Given the description of an element on the screen output the (x, y) to click on. 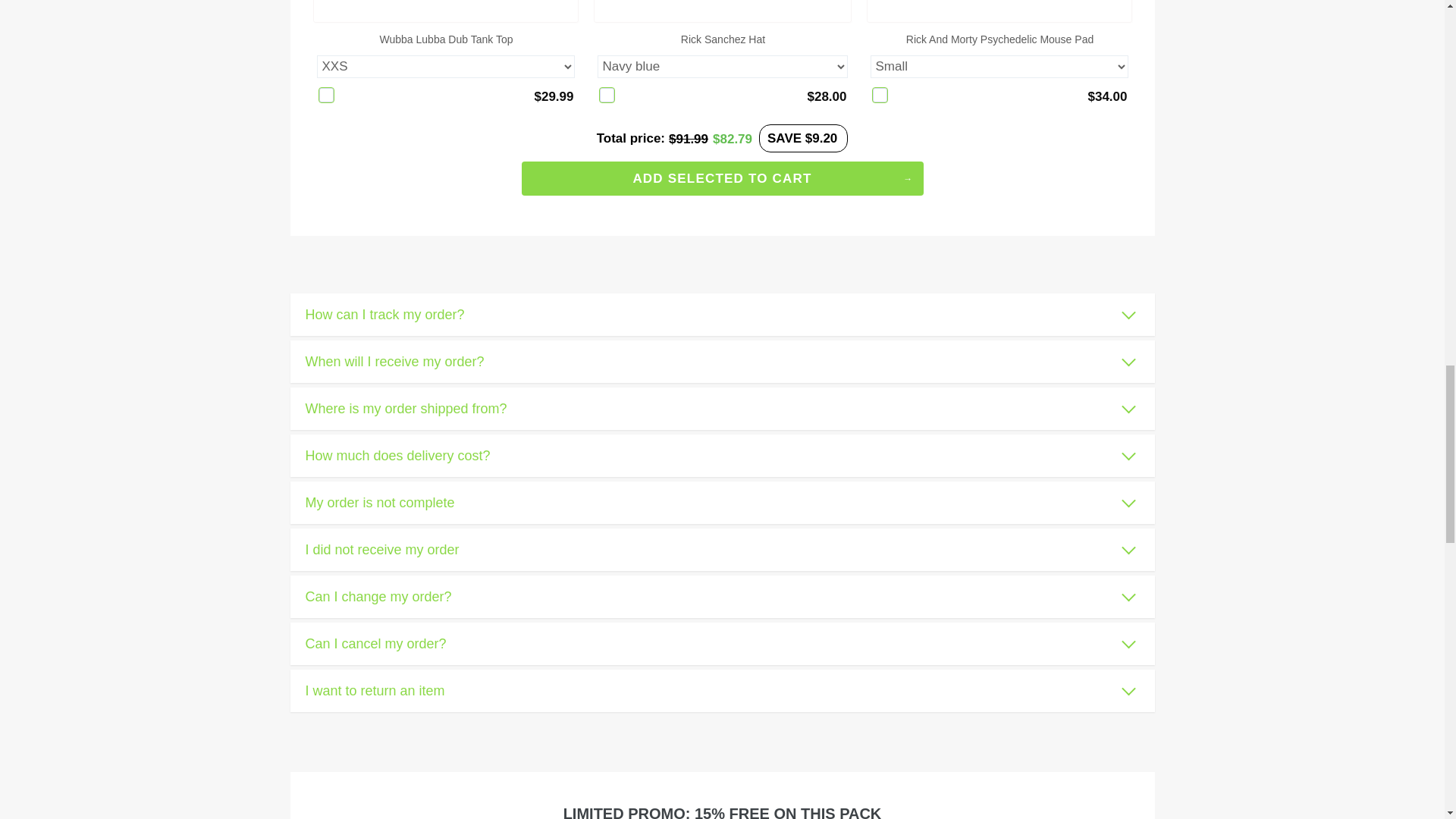
on (606, 94)
on (326, 94)
on (880, 94)
